Given the description of an element on the screen output the (x, y) to click on. 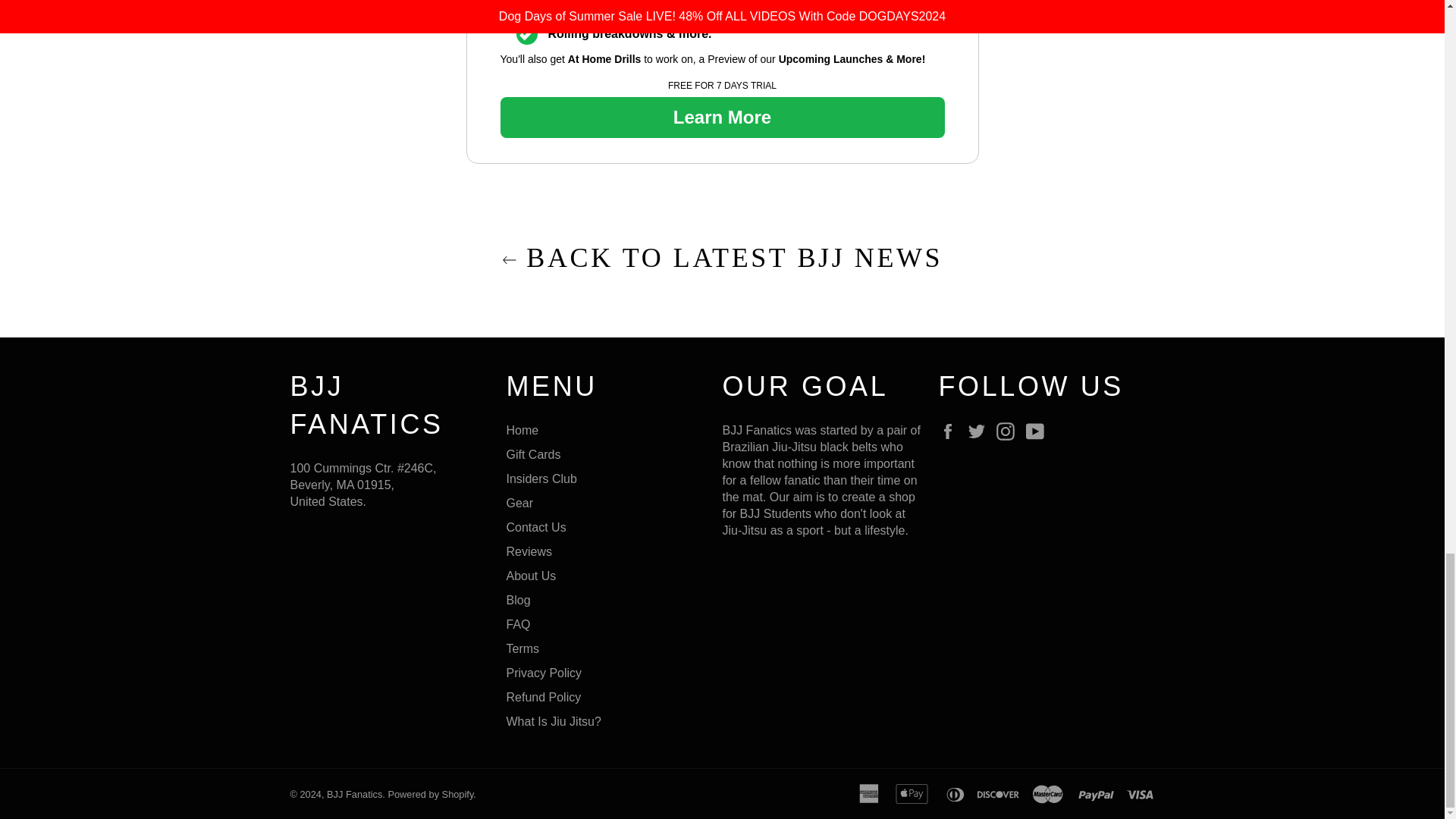
BJJ Fanatics on YouTube (1038, 431)
BJJ Fanatics on Twitter (980, 431)
BJJ Fanatics on Instagram (1008, 431)
BJJ Fanatics on Facebook (951, 431)
